Given the description of an element on the screen output the (x, y) to click on. 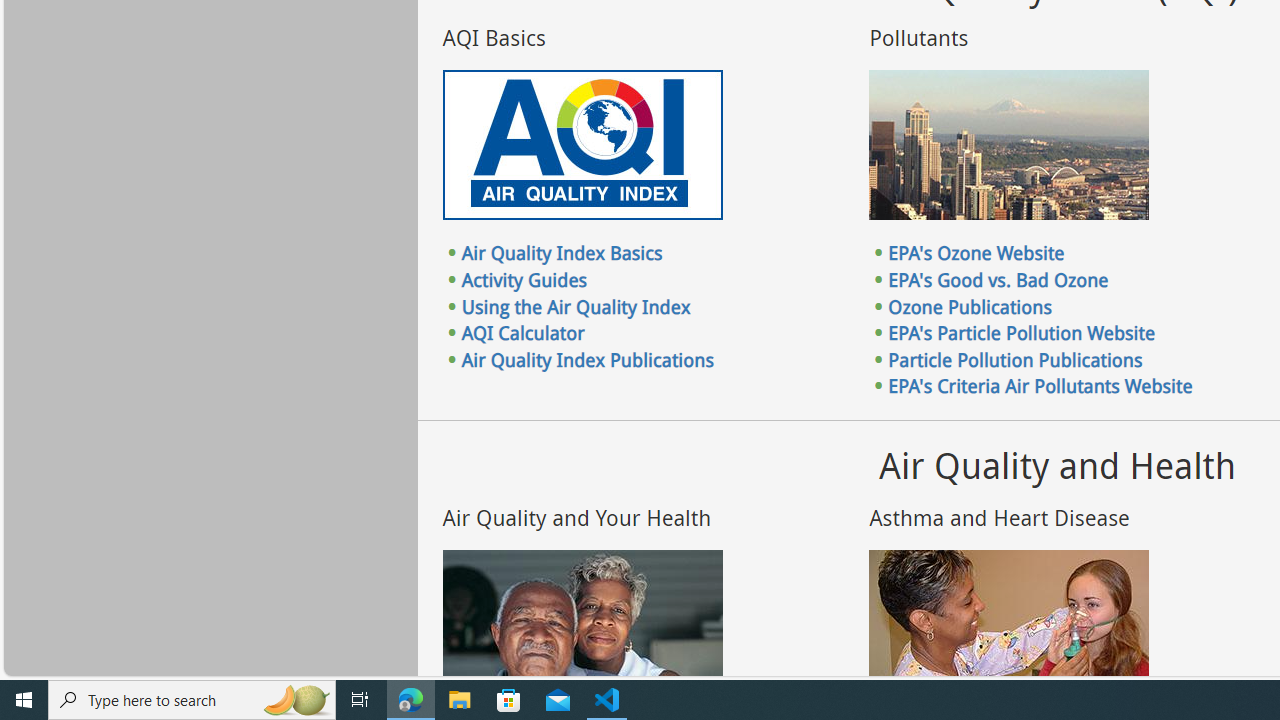
AQI logo (582, 145)
EPA's Criteria Air Pollutants Website (1040, 386)
Air Quality and Your Health (582, 623)
AQI logo (582, 145)
Ozone Publications (970, 306)
Particle Pollution Publications (1015, 359)
Asthma and Heart Disease (1009, 623)
AQI Calculator (522, 333)
Using the Air Quality Index (575, 306)
Pollutants (1009, 145)
